Given the description of an element on the screen output the (x, y) to click on. 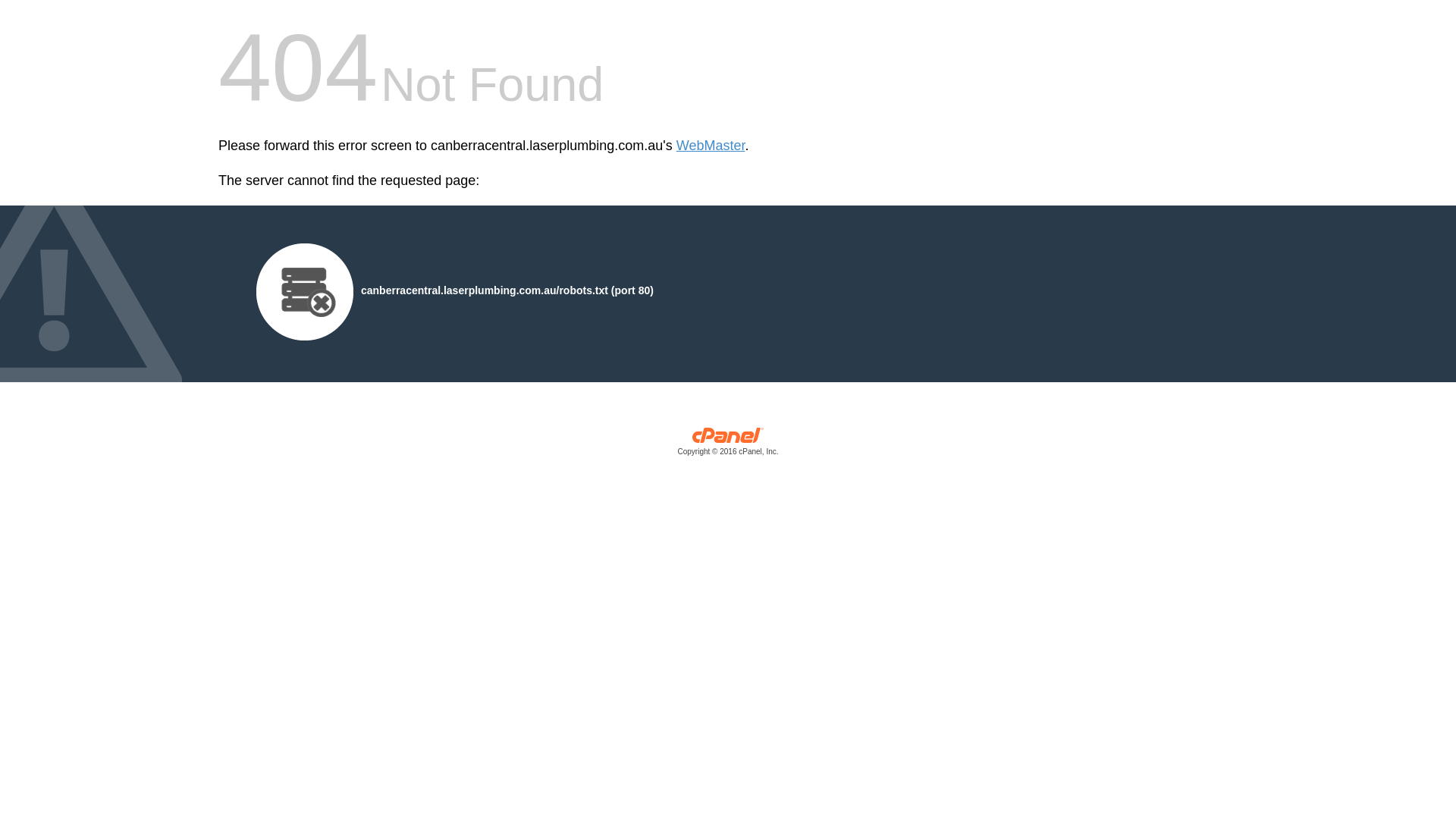
WebMaster Element type: text (710, 145)
